Given the description of an element on the screen output the (x, y) to click on. 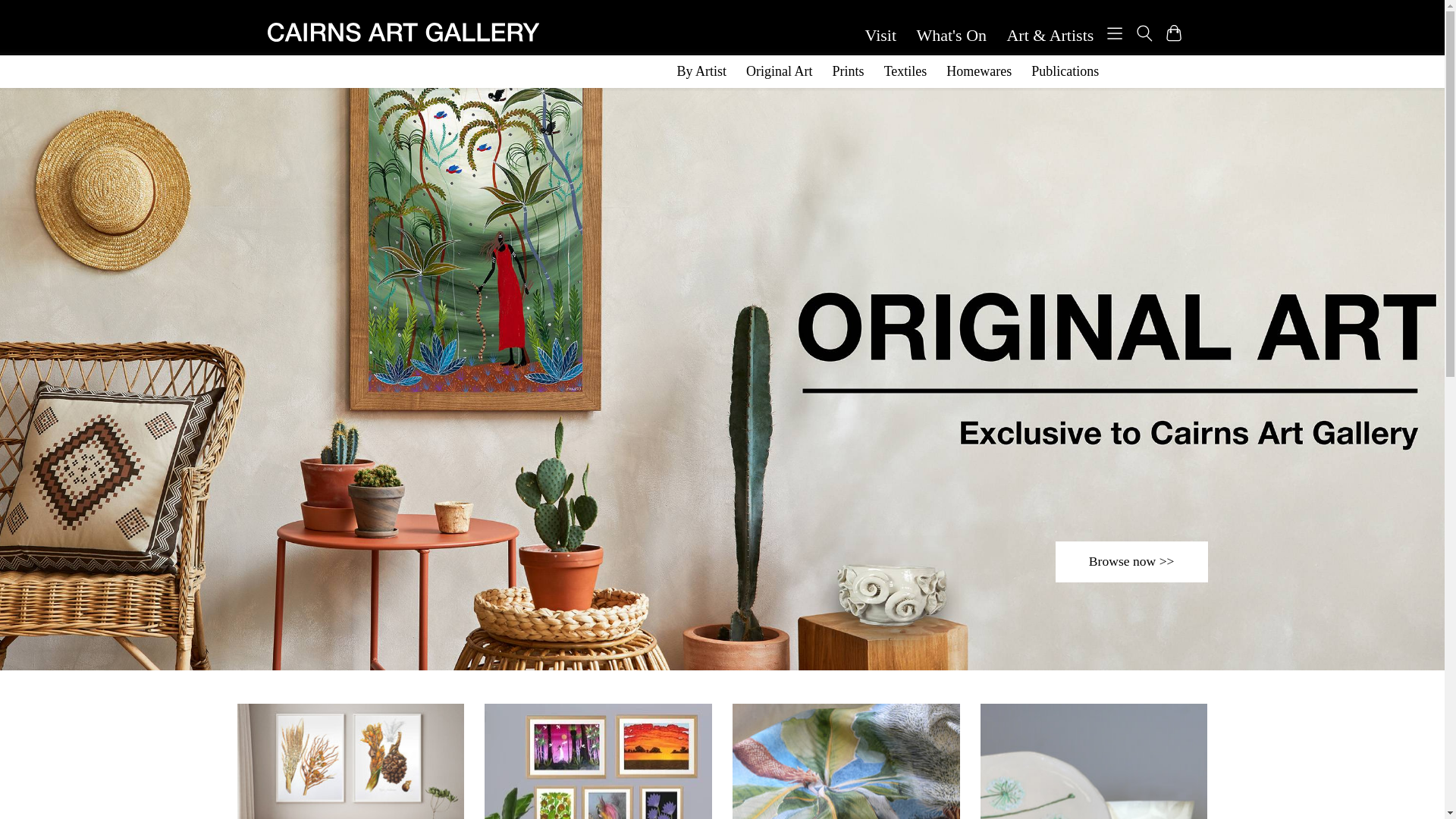
Homewares and Table Linen (845, 761)
Original Art (350, 761)
Ceramics and Servingware (1093, 761)
Reproduction Prints (597, 761)
